Given the description of an element on the screen output the (x, y) to click on. 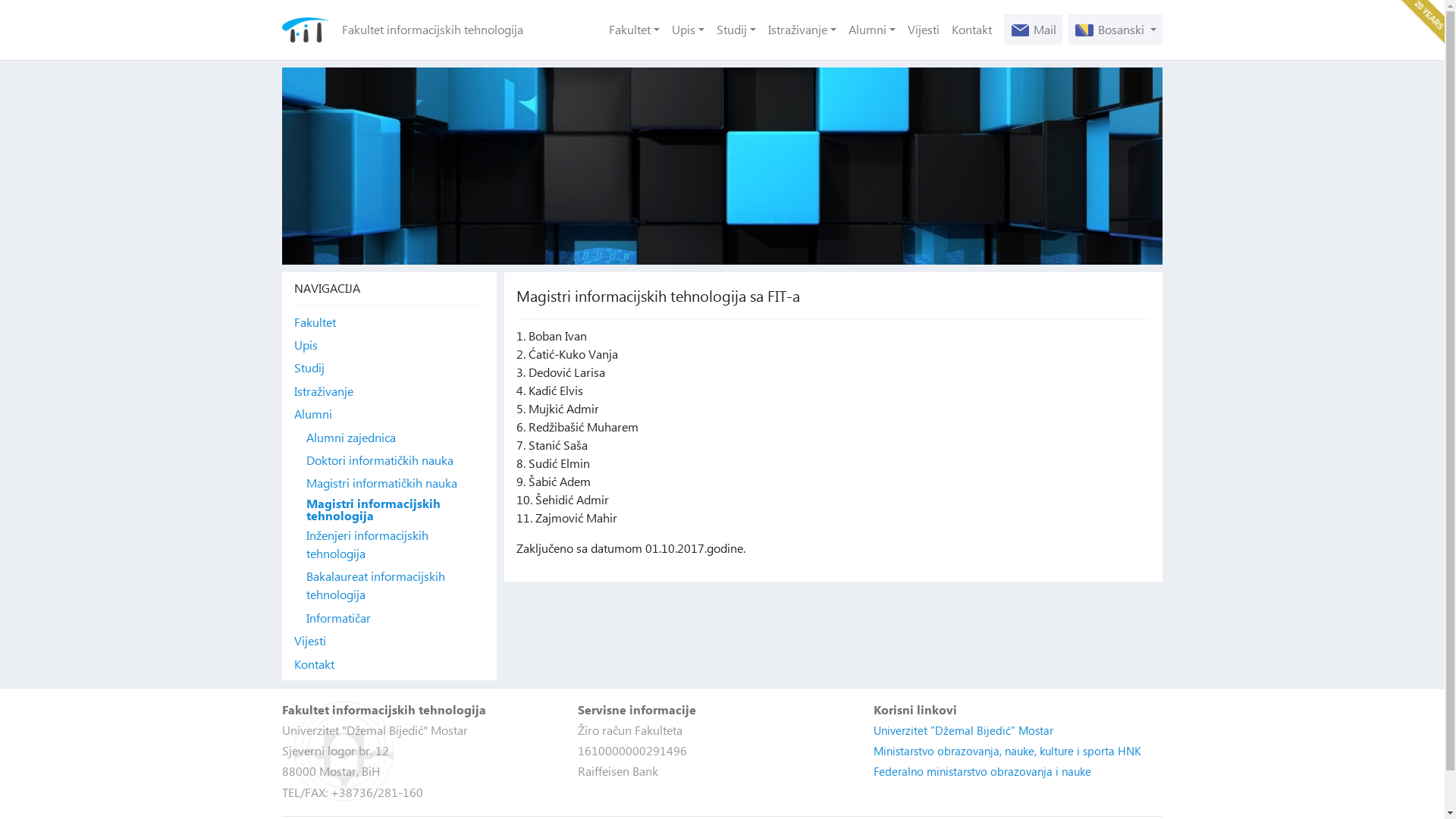
Bakalaureat informacijskih tehnologija Element type: text (395, 585)
Alumni Element type: text (389, 413)
Magistri informacijskih tehnologija Element type: text (395, 509)
Fakultet Element type: text (633, 29)
Federalno ministarstvo obrazovanja i nauke Element type: text (982, 770)
Upis Element type: text (687, 29)
Fakultet informacijskih tehnologija Element type: hover (305, 29)
Vijesti Element type: text (389, 640)
Ministarstvo obrazovanja, nauke, kulture i sporta HNK Element type: text (1007, 750)
Kontakt Element type: text (389, 664)
Kontakt Element type: text (971, 29)
Vijesti Element type: text (923, 29)
Alumni zajednica Element type: text (395, 437)
Studij Element type: text (389, 367)
Mail Element type: text (1032, 29)
Upis Element type: text (389, 344)
Alumni Element type: text (871, 29)
Studij Element type: text (736, 29)
Fakultet Element type: text (389, 322)
Bosanski Element type: text (1115, 29)
Fakultet informacijskih tehnologija Element type: text (447, 29)
